Given the description of an element on the screen output the (x, y) to click on. 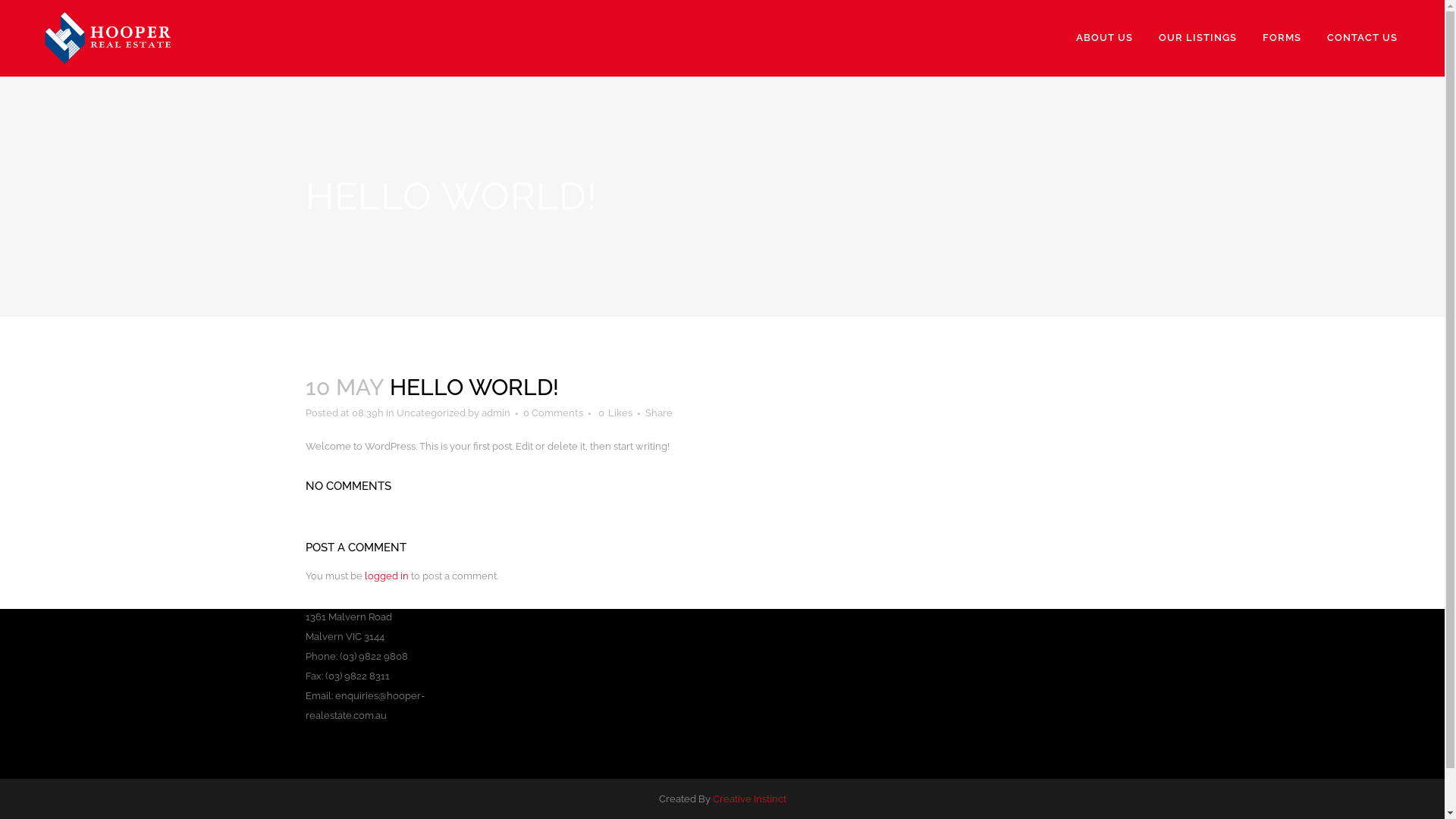
0 Likes Element type: text (614, 412)
admin Element type: text (494, 412)
ABOUT US Element type: text (1104, 37)
0 Comments Element type: text (553, 412)
logged in Element type: text (385, 575)
CONTACT US Element type: text (1362, 37)
Creative Instinct Element type: text (749, 798)
OUR LISTINGS Element type: text (1197, 37)
Uncategorized Element type: text (429, 412)
enquiries@hooper-realestate.com.au Element type: text (363, 705)
FORMS Element type: text (1281, 37)
Share Element type: text (657, 412)
